Given the description of an element on the screen output the (x, y) to click on. 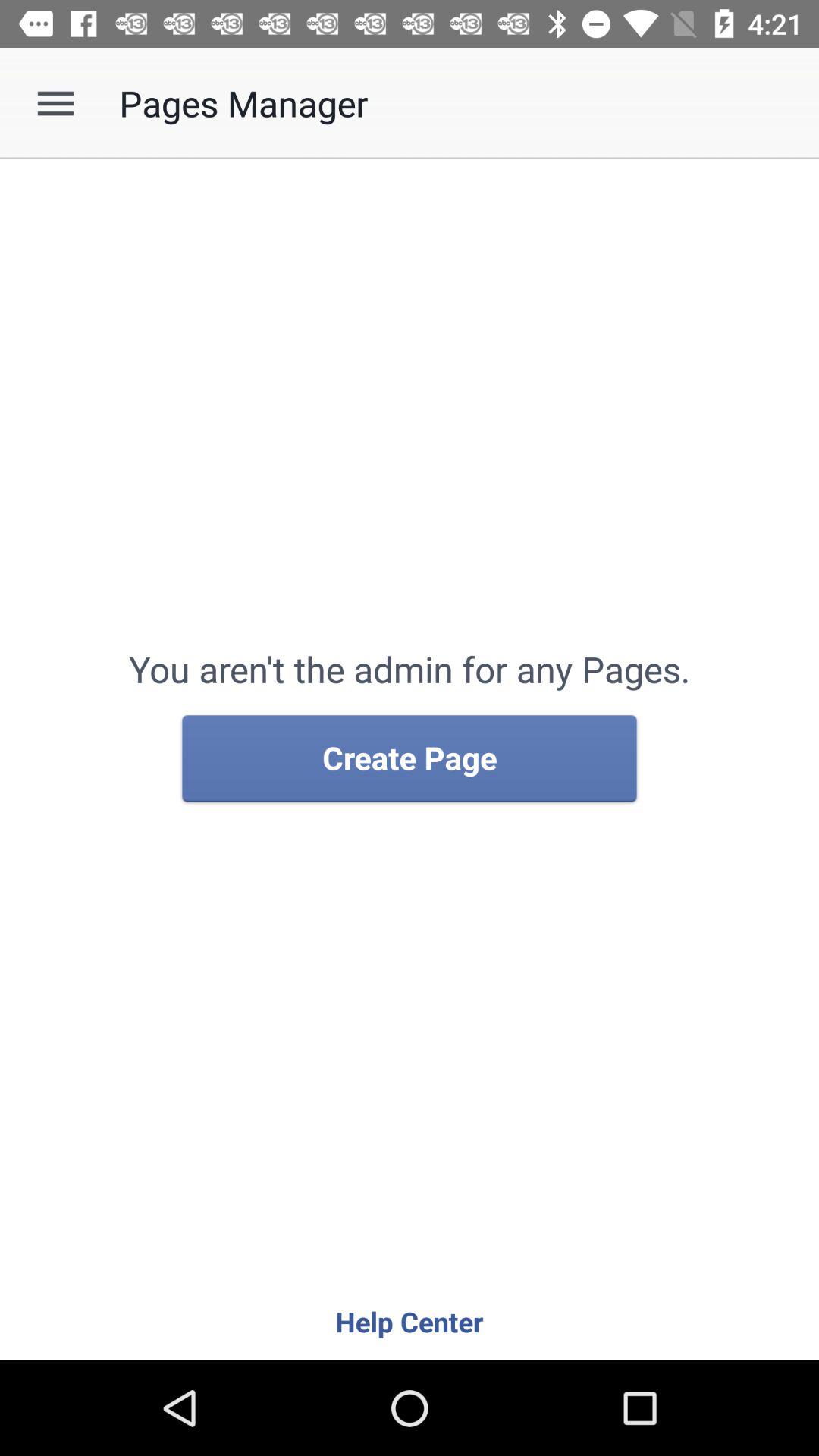
open the icon next to pages manager app (55, 103)
